Given the description of an element on the screen output the (x, y) to click on. 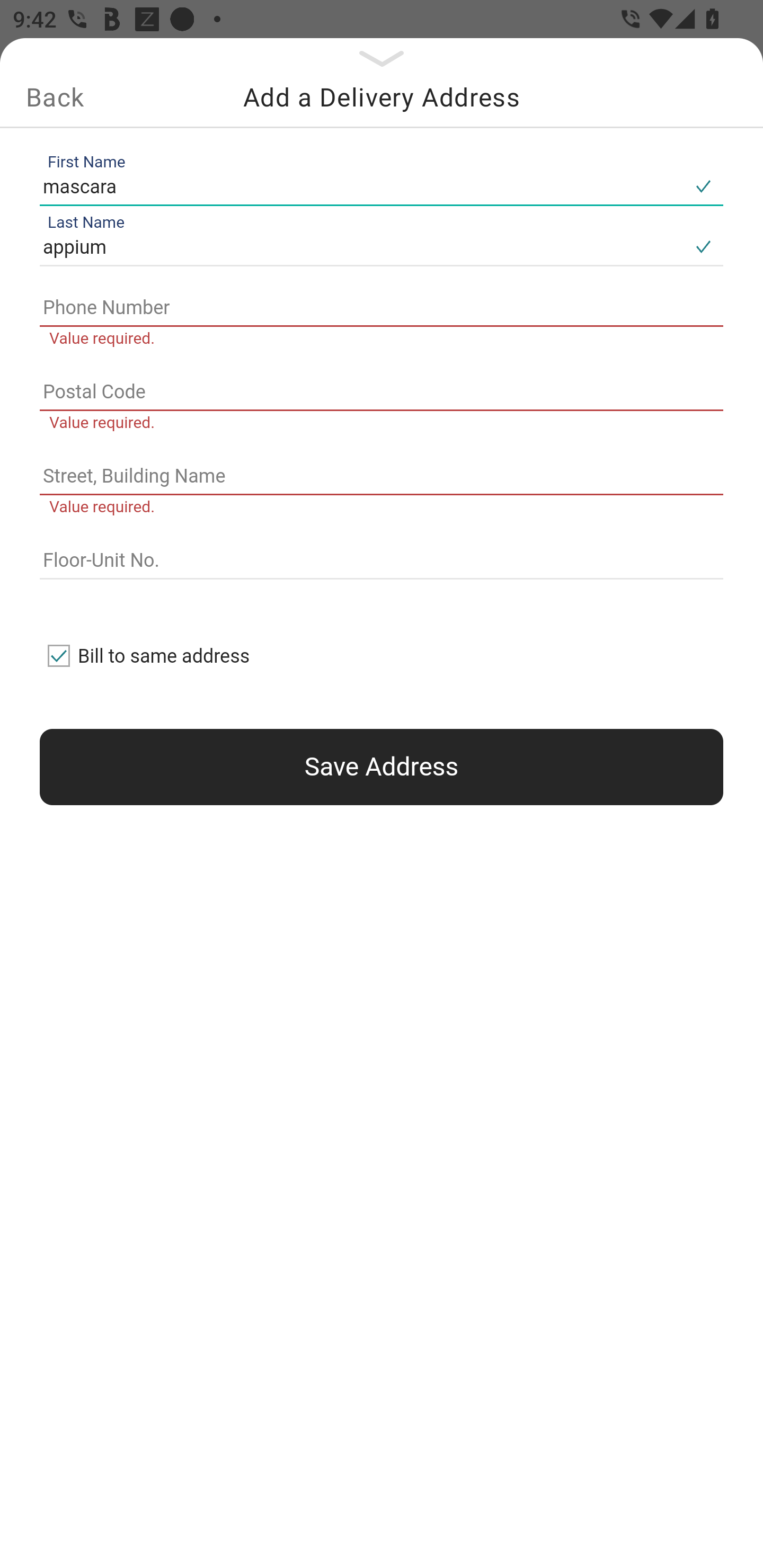
Back (54, 96)
Add a Delivery Address (381, 96)
mascara (361, 186)
appium (361, 247)
Save Address (381, 767)
